Given the description of an element on the screen output the (x, y) to click on. 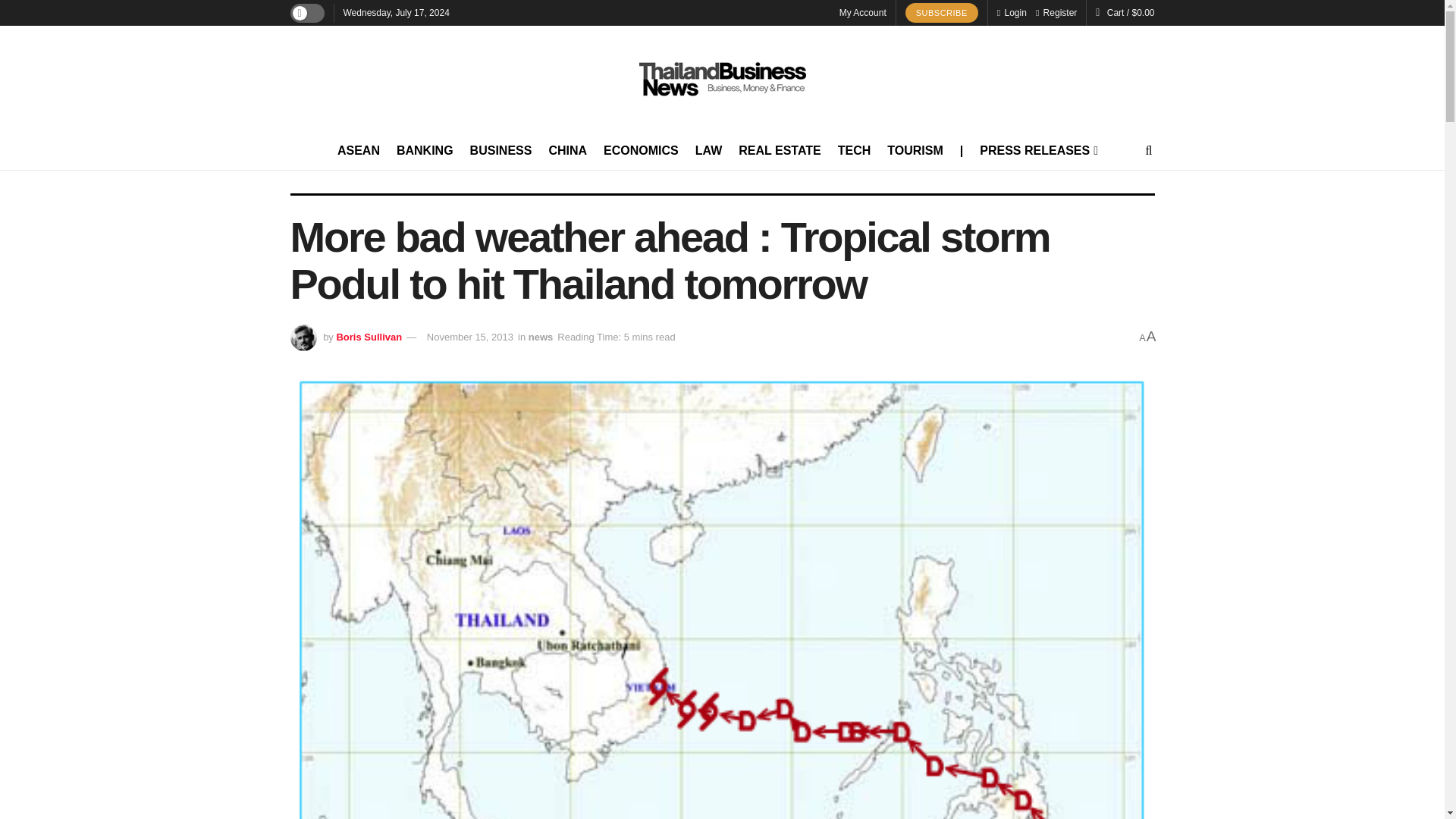
PRESS RELEASES (1037, 150)
TECH (854, 150)
ECONOMICS (641, 150)
BUSINESS (501, 150)
View your shopping cart (1130, 12)
SUBSCRIBE (941, 12)
ASEAN (358, 150)
REAL ESTATE (779, 150)
Login (1011, 12)
LAW (708, 150)
Register (1056, 12)
My Account (863, 12)
TOURISM (914, 150)
CHINA (567, 150)
